Given the description of an element on the screen output the (x, y) to click on. 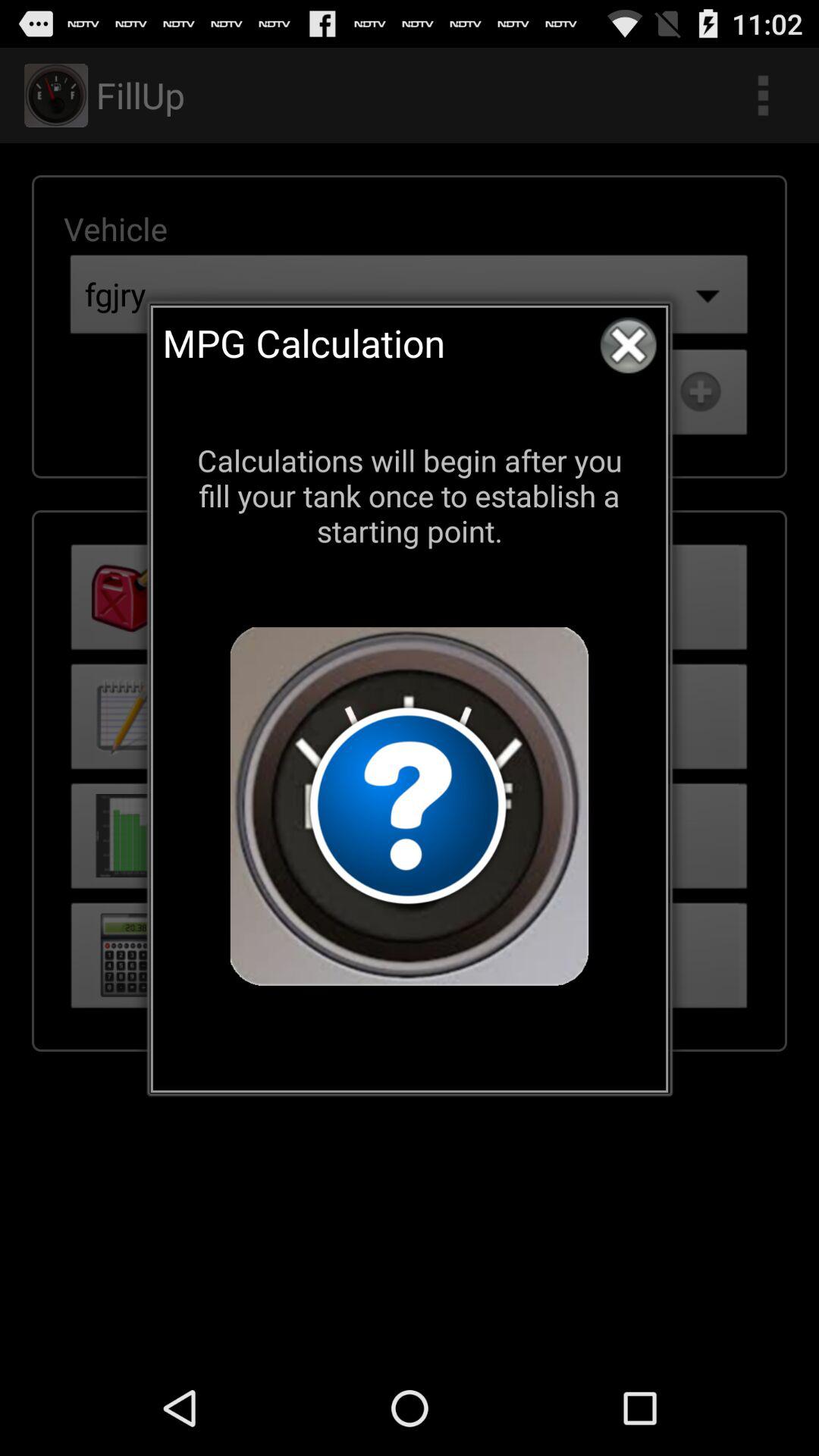
tap the icon at the top right corner (628, 345)
